Given the description of an element on the screen output the (x, y) to click on. 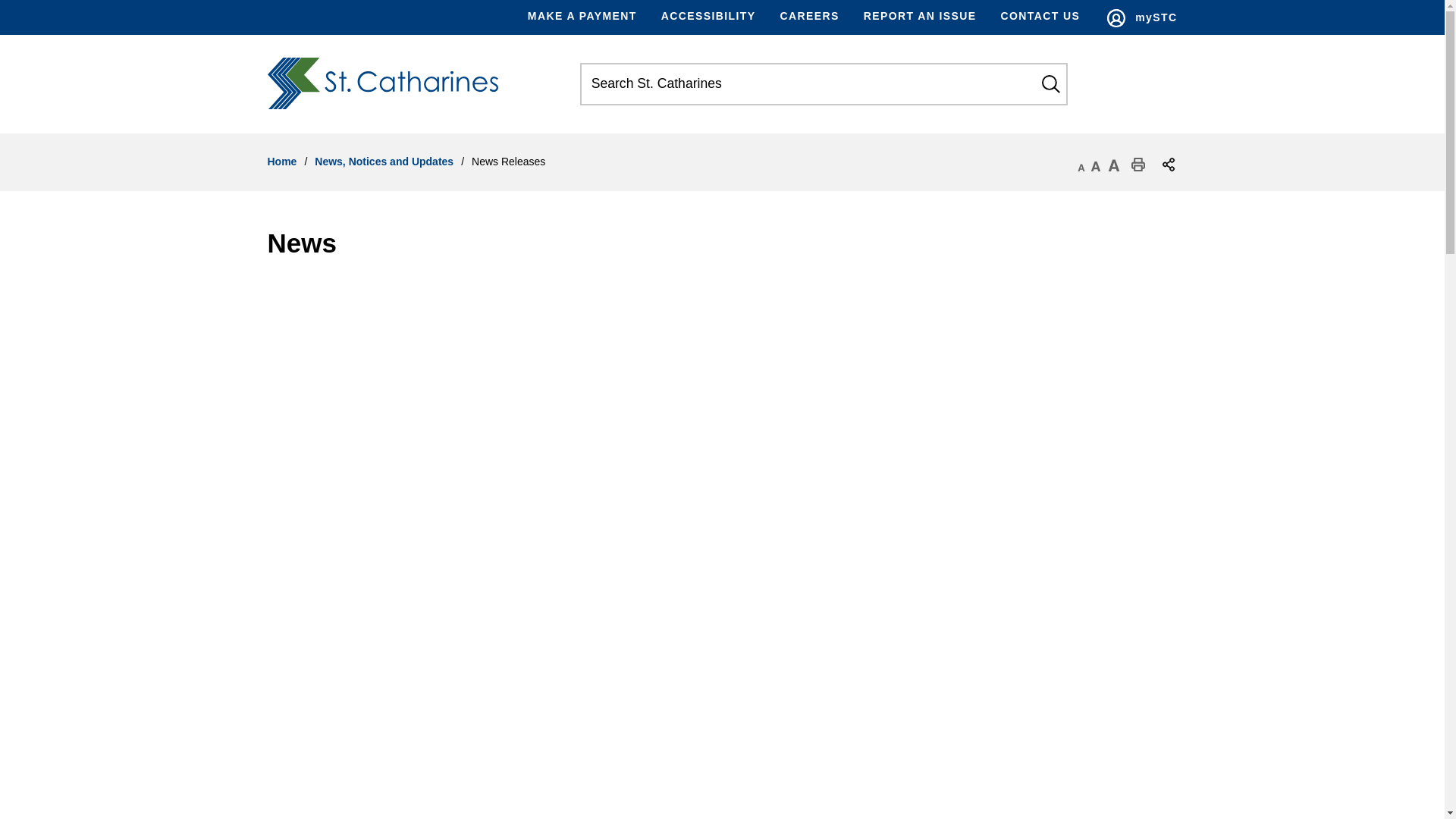
CAREERS (808, 16)
View our Contact Us page (1040, 16)
Report an Issue (919, 16)
Click to return to the homepage (387, 82)
MAKE A PAYMENT (588, 16)
ACCESSIBILITY (708, 16)
View our mySTC Portal page (1141, 18)
View our Careers page (808, 16)
